Given the description of an element on the screen output the (x, y) to click on. 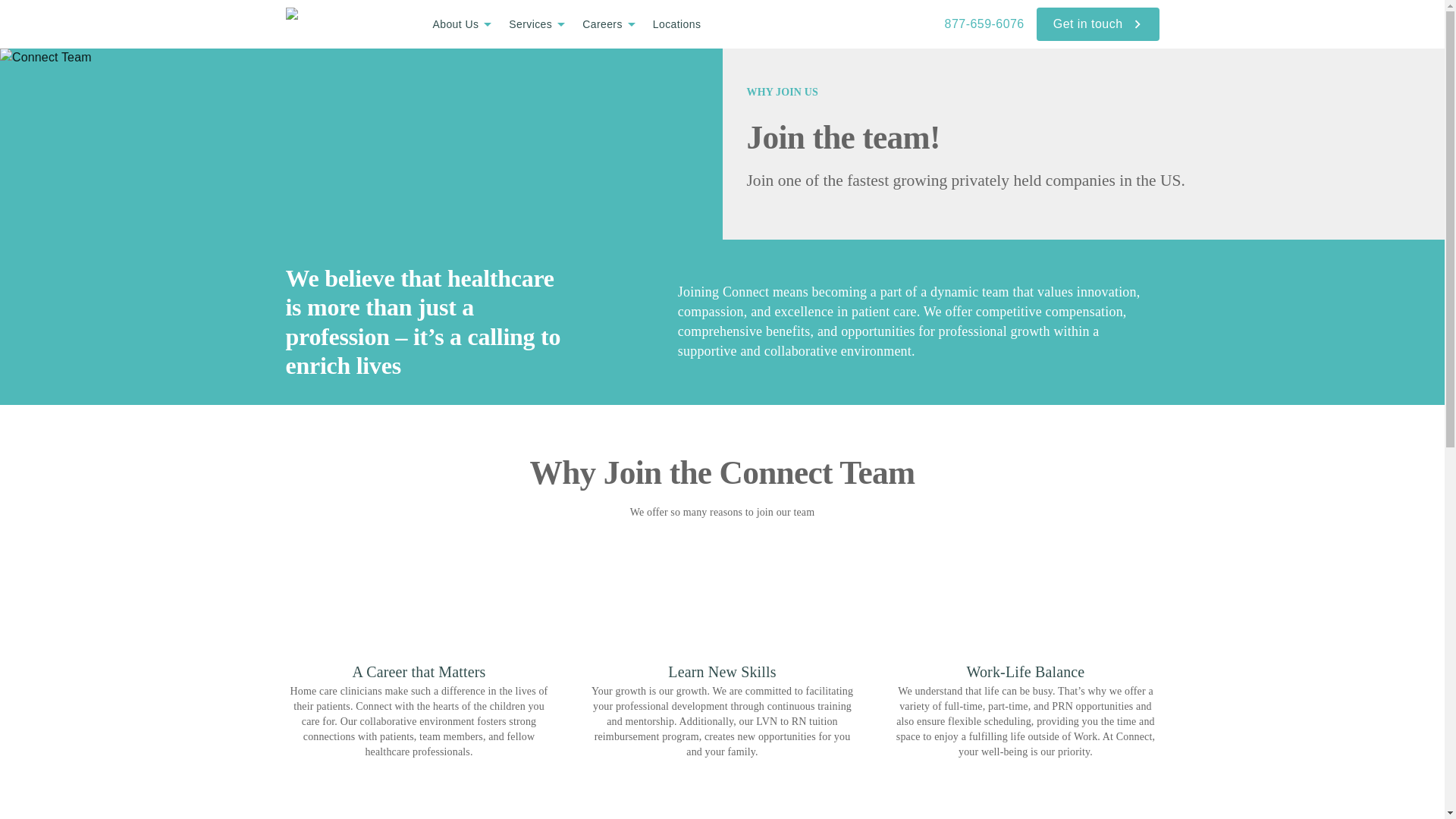
About Us (464, 24)
Services (539, 24)
Locations (676, 22)
Locations (676, 24)
Careers (611, 24)
877-659-6076 (984, 24)
Get in touch (1097, 23)
